Given the description of an element on the screen output the (x, y) to click on. 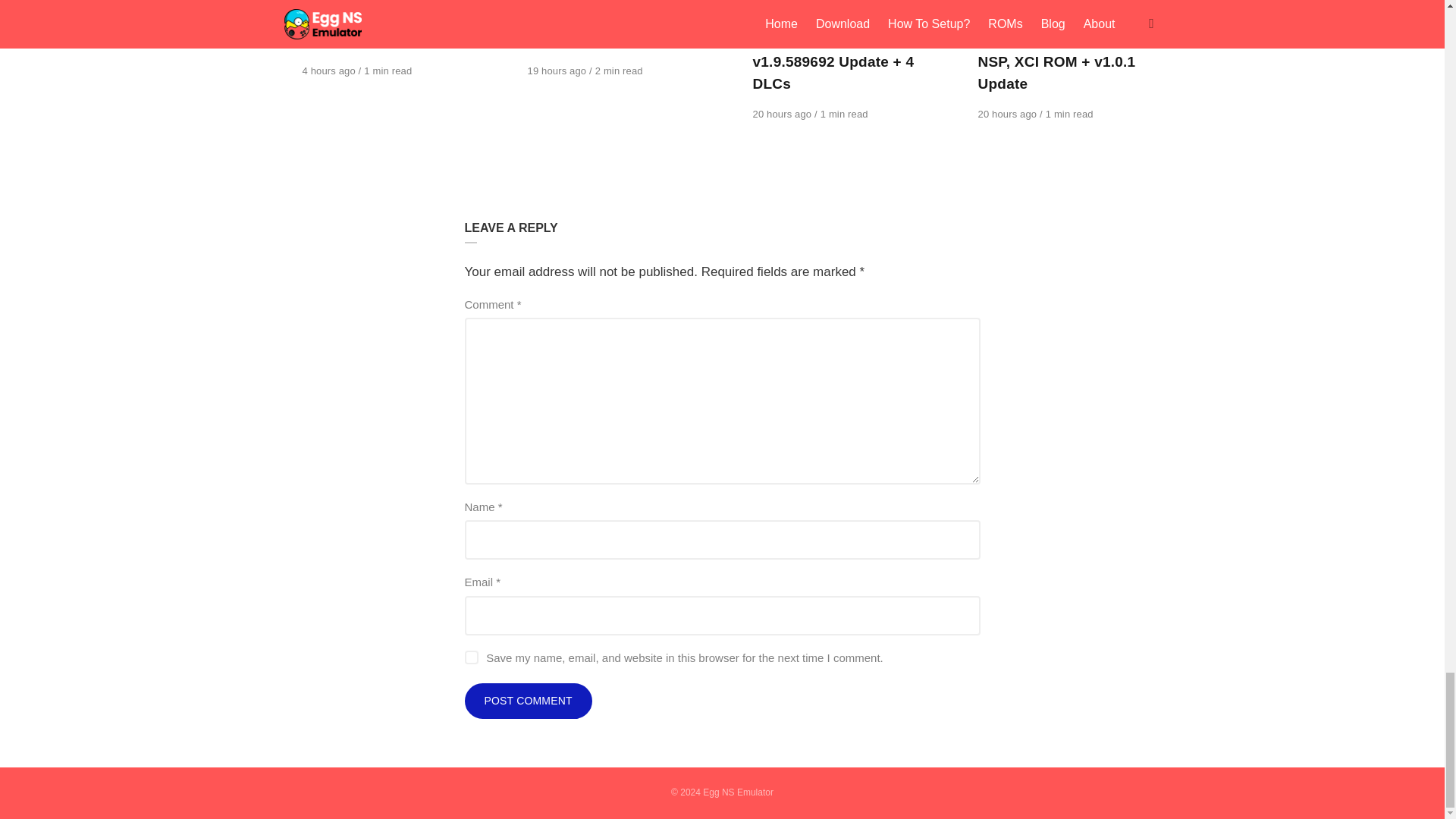
Post Comment (527, 701)
4 hours ago (329, 70)
yes (470, 657)
